Given the description of an element on the screen output the (x, y) to click on. 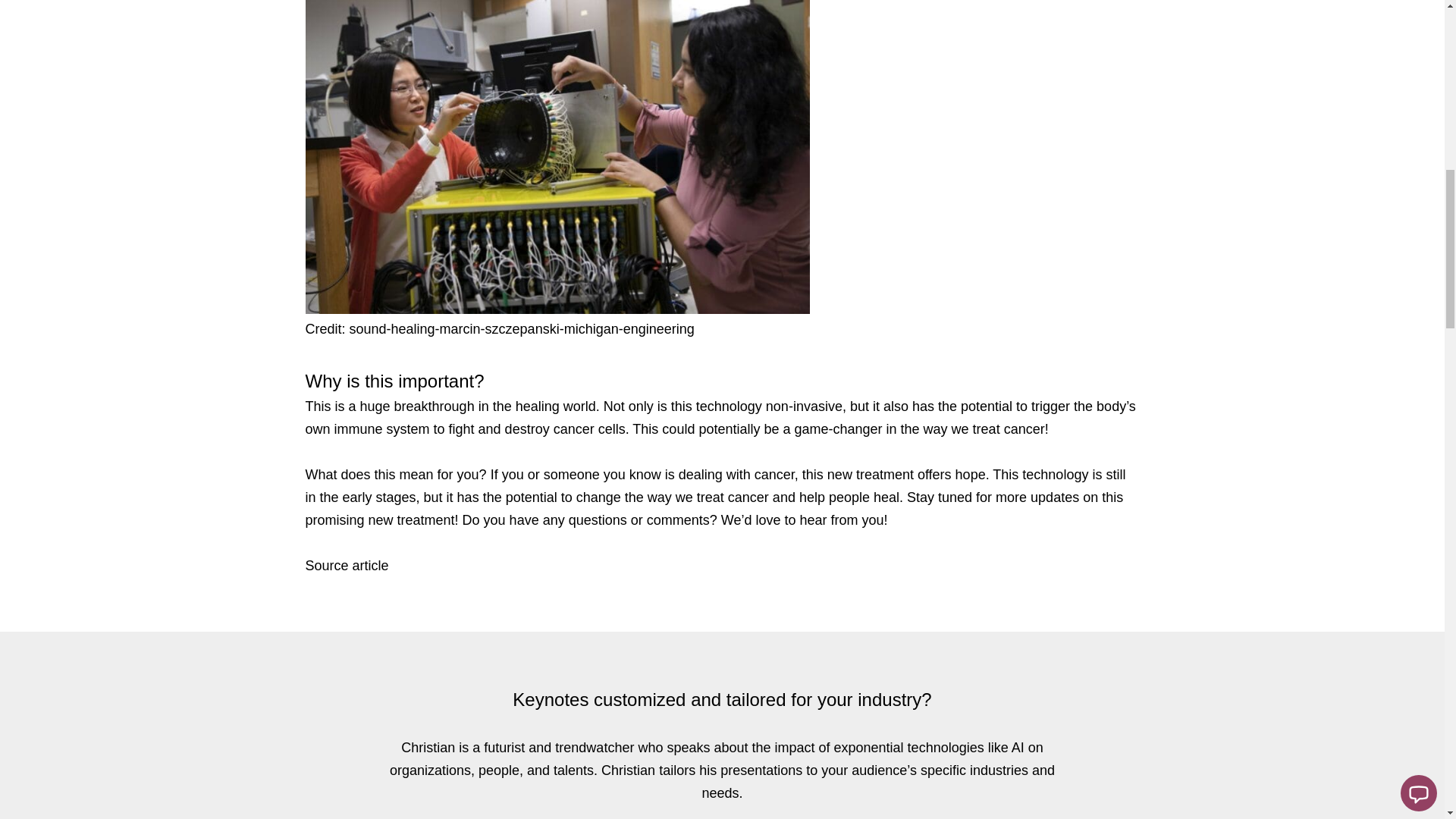
Source article (346, 565)
